Given the description of an element on the screen output the (x, y) to click on. 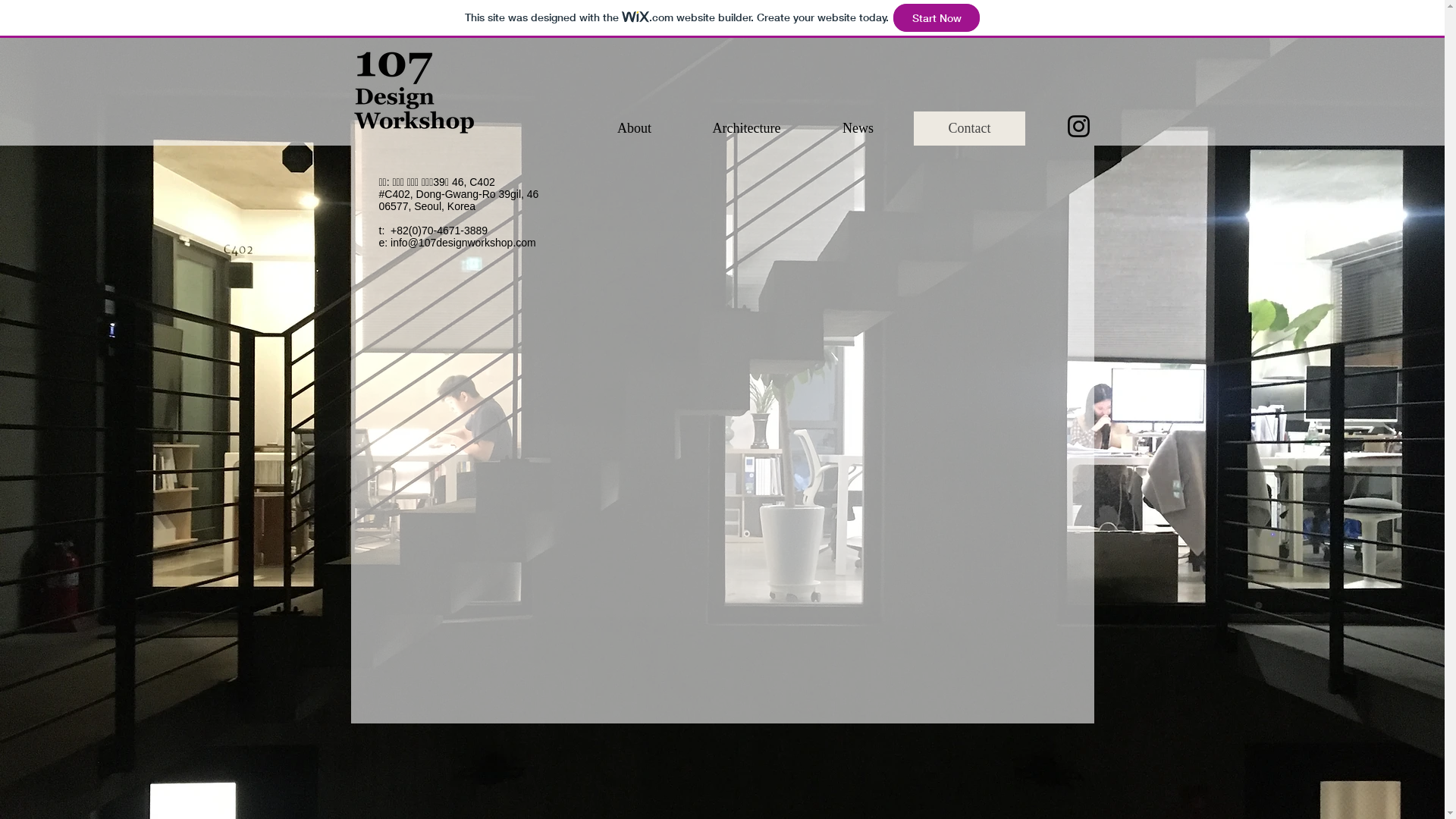
Architecture Element type: text (745, 128)
Contact Element type: text (968, 128)
News Element type: text (857, 128)
Google Maps Element type: hover (893, 282)
info@107designworkshop.com Element type: text (463, 242)
About Element type: text (633, 128)
